Given the description of an element on the screen output the (x, y) to click on. 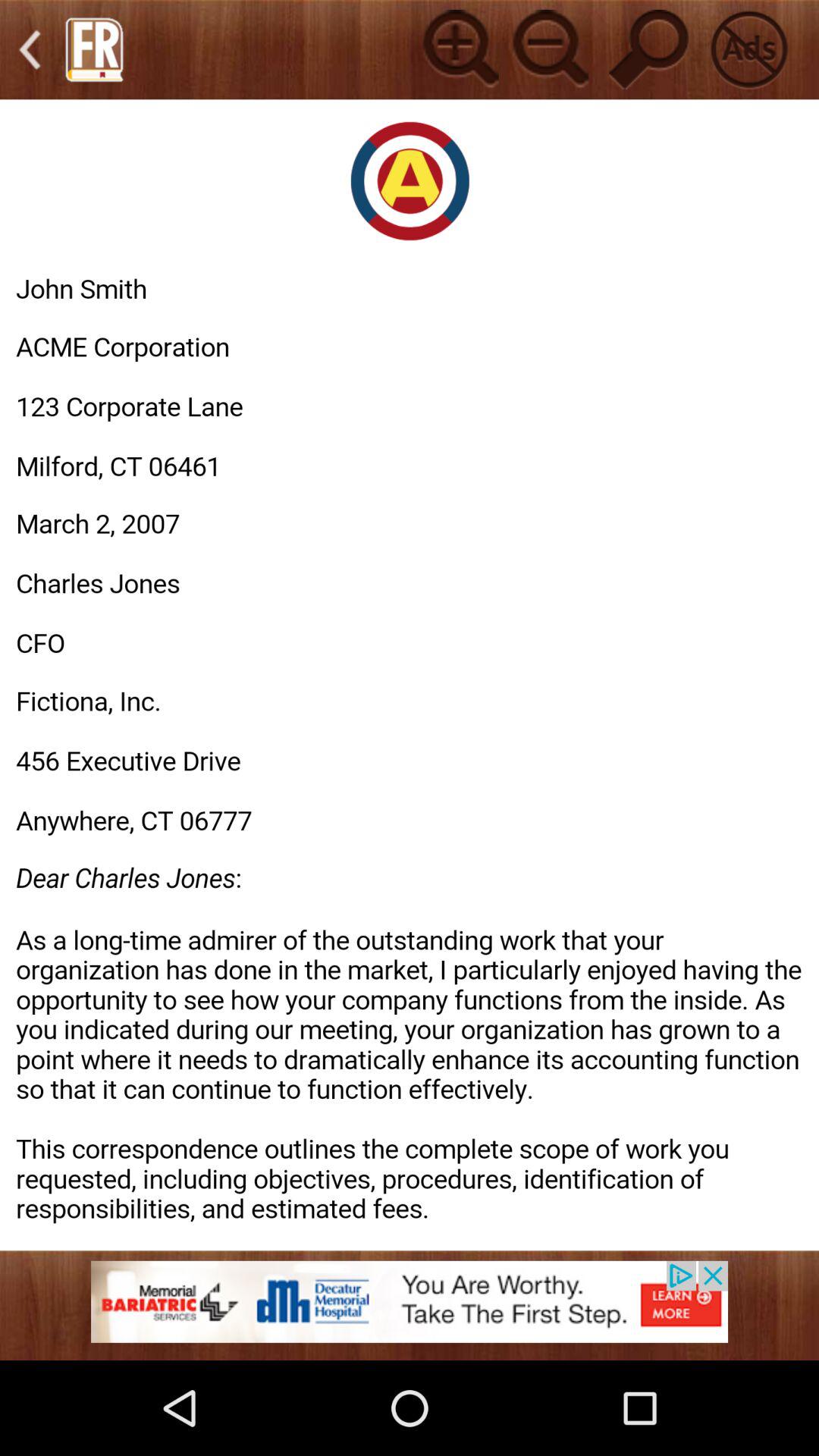
stop advertisements (748, 49)
